Given the description of an element on the screen output the (x, y) to click on. 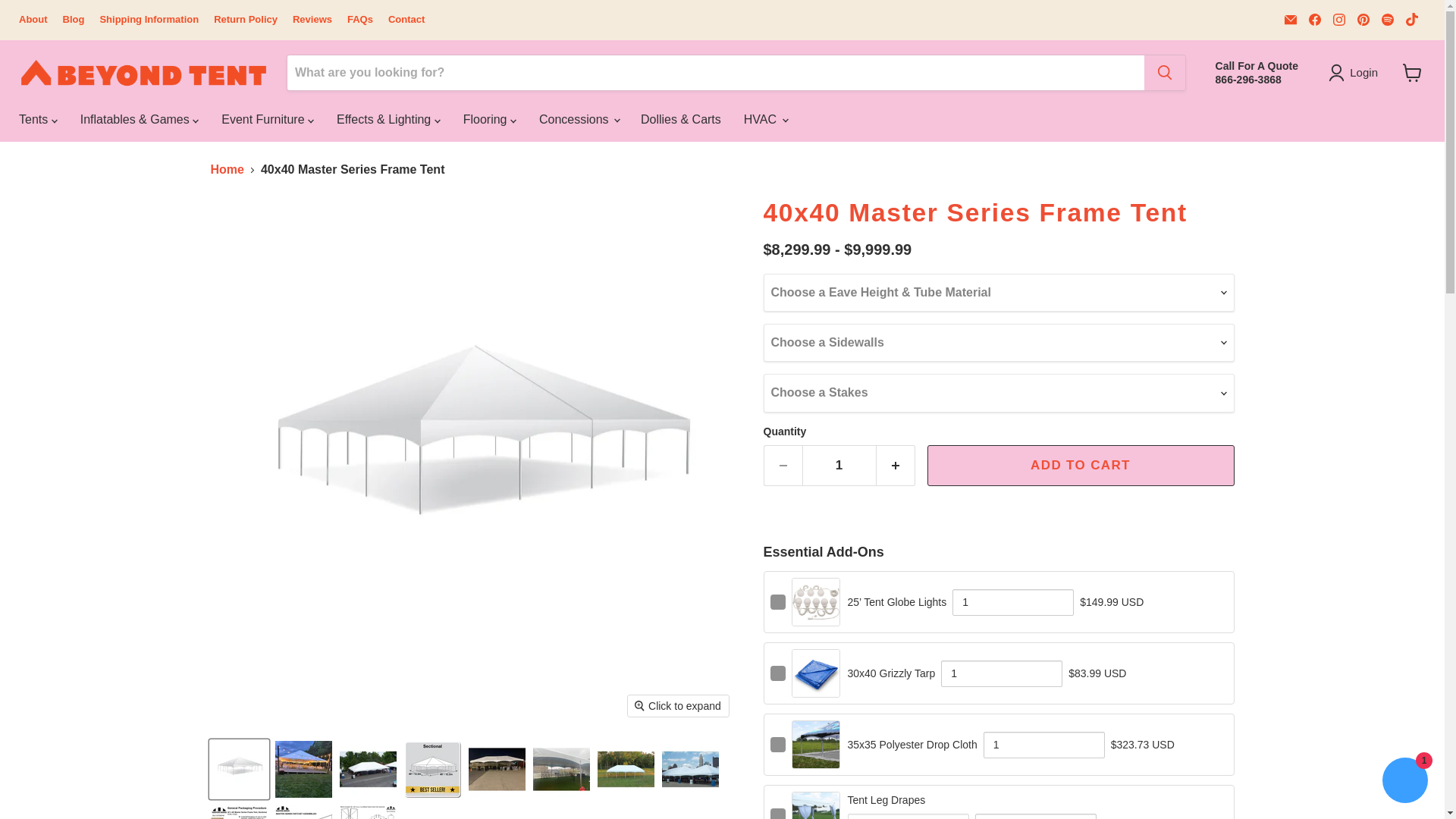
Instagram (1338, 19)
Return Policy (246, 19)
Spotify (1387, 19)
About (33, 19)
Find us on Instagram (1338, 19)
Find us on Facebook (1314, 19)
Login (1355, 72)
View cart (1411, 72)
Blog (73, 19)
1 (1013, 601)
Pinterest (1363, 19)
Find us on TikTok (1411, 19)
Find us on Spotify (1387, 19)
Email Beyond Tent (1290, 19)
1 (1001, 673)
